Given the description of an element on the screen output the (x, y) to click on. 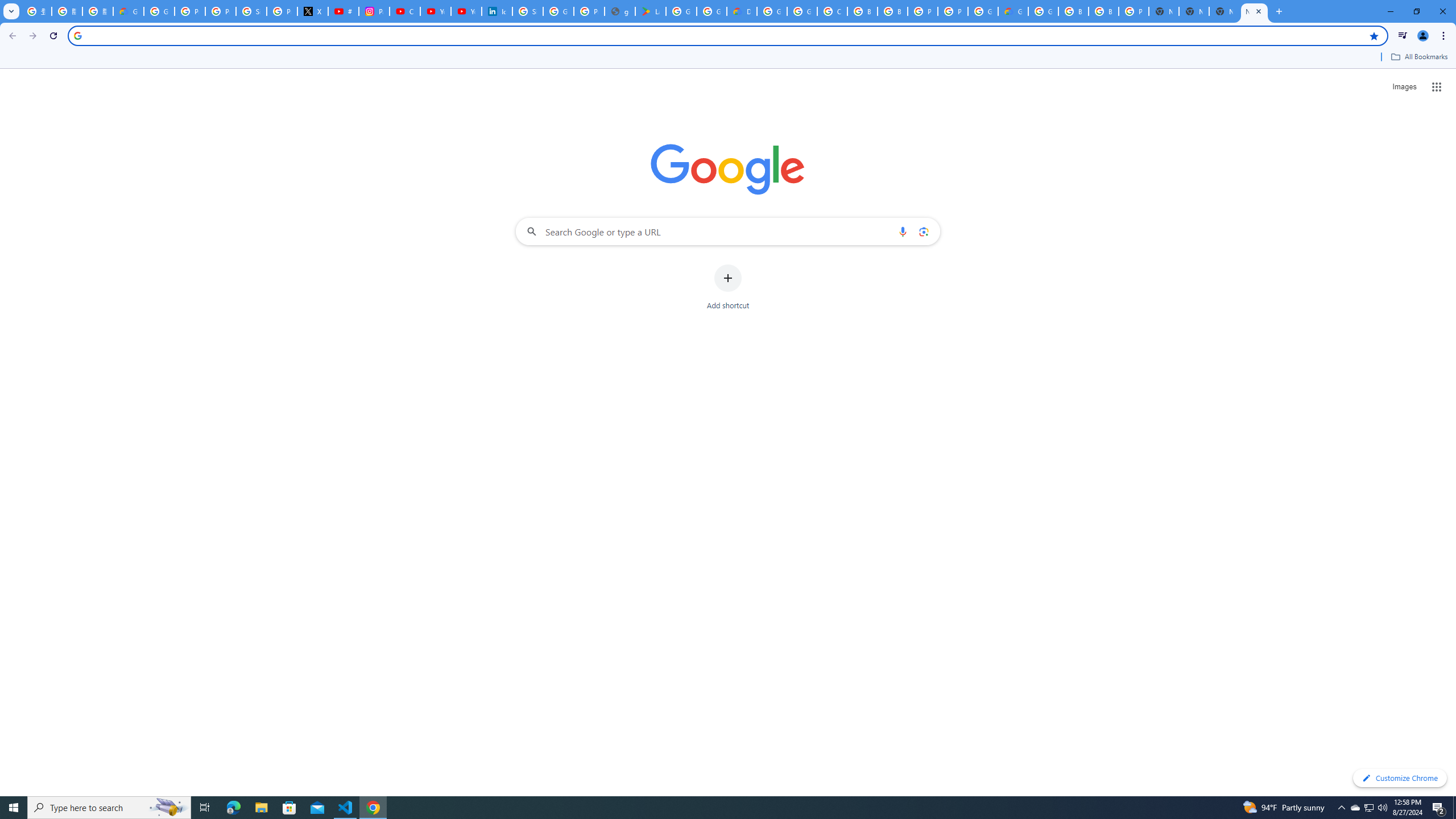
Search by voice (902, 230)
Search by image (922, 230)
Google Cloud Platform (1042, 11)
Bookmarks (728, 58)
